Given the description of an element on the screen output the (x, y) to click on. 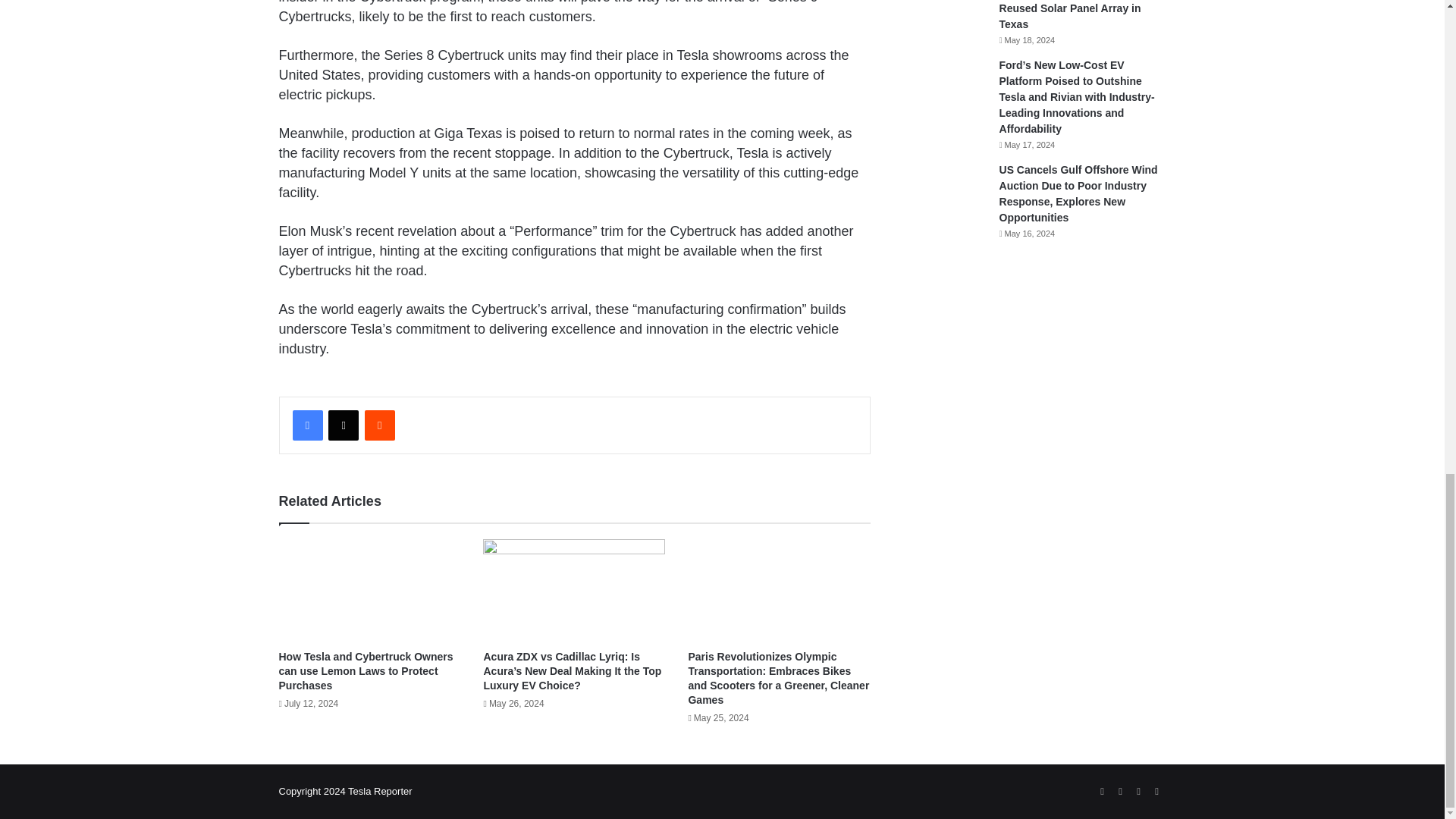
Facebook (307, 425)
Reddit (379, 425)
Reddit (379, 425)
X (343, 425)
Facebook (307, 425)
X (343, 425)
